Given the description of an element on the screen output the (x, y) to click on. 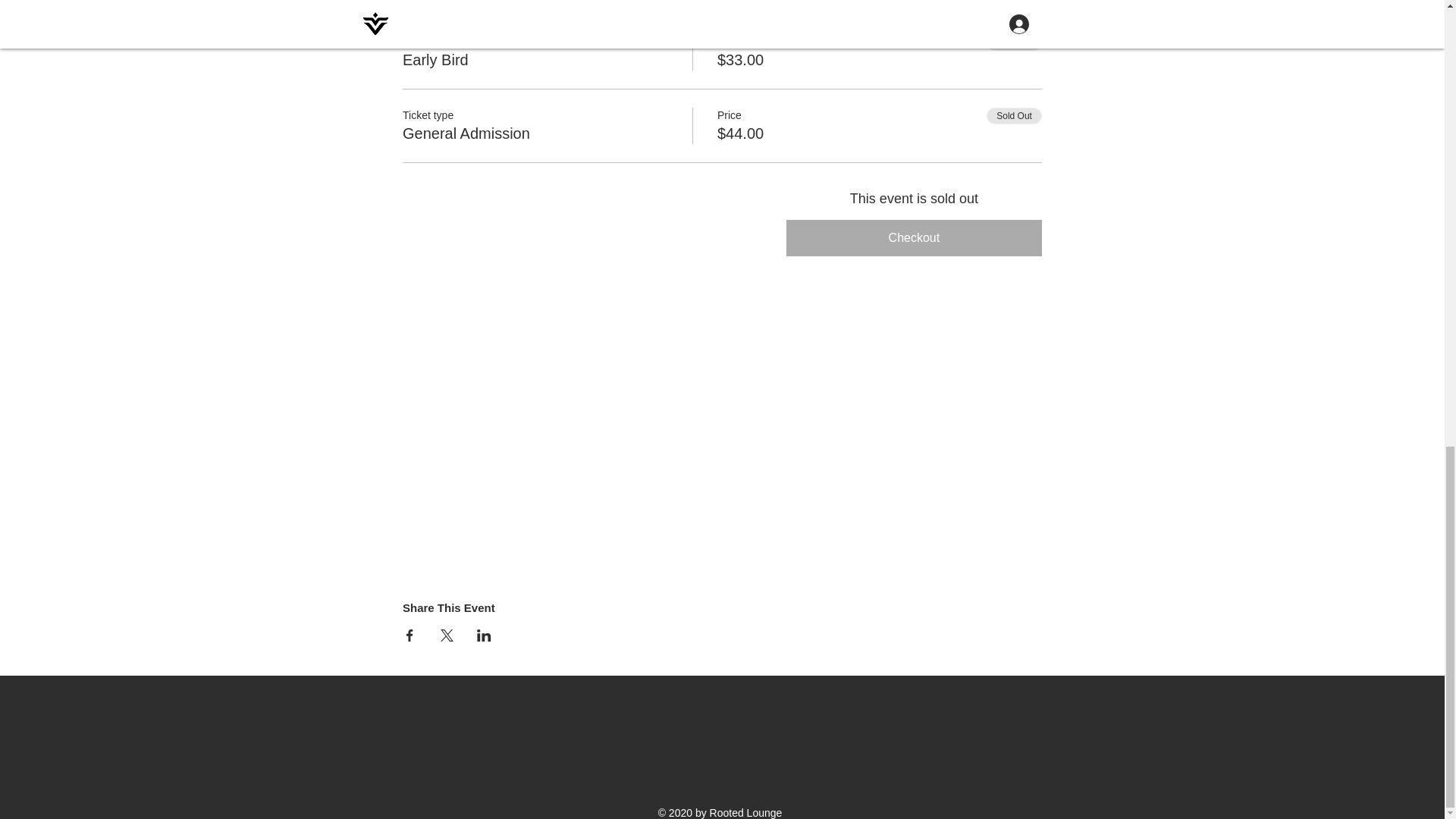
Checkout (914, 238)
